Given the description of an element on the screen output the (x, y) to click on. 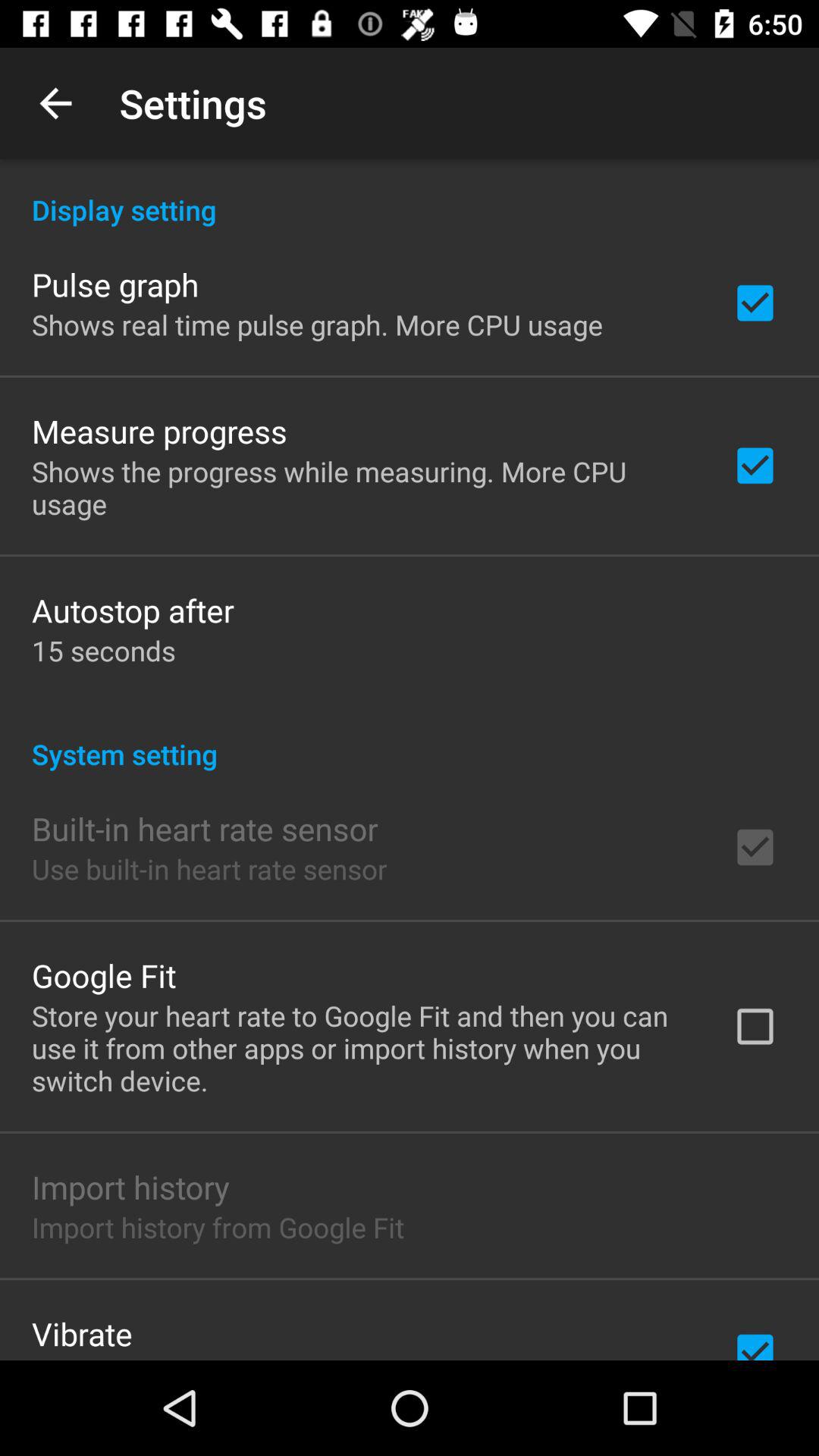
choose the icon above shows the progress icon (159, 430)
